Given the description of an element on the screen output the (x, y) to click on. 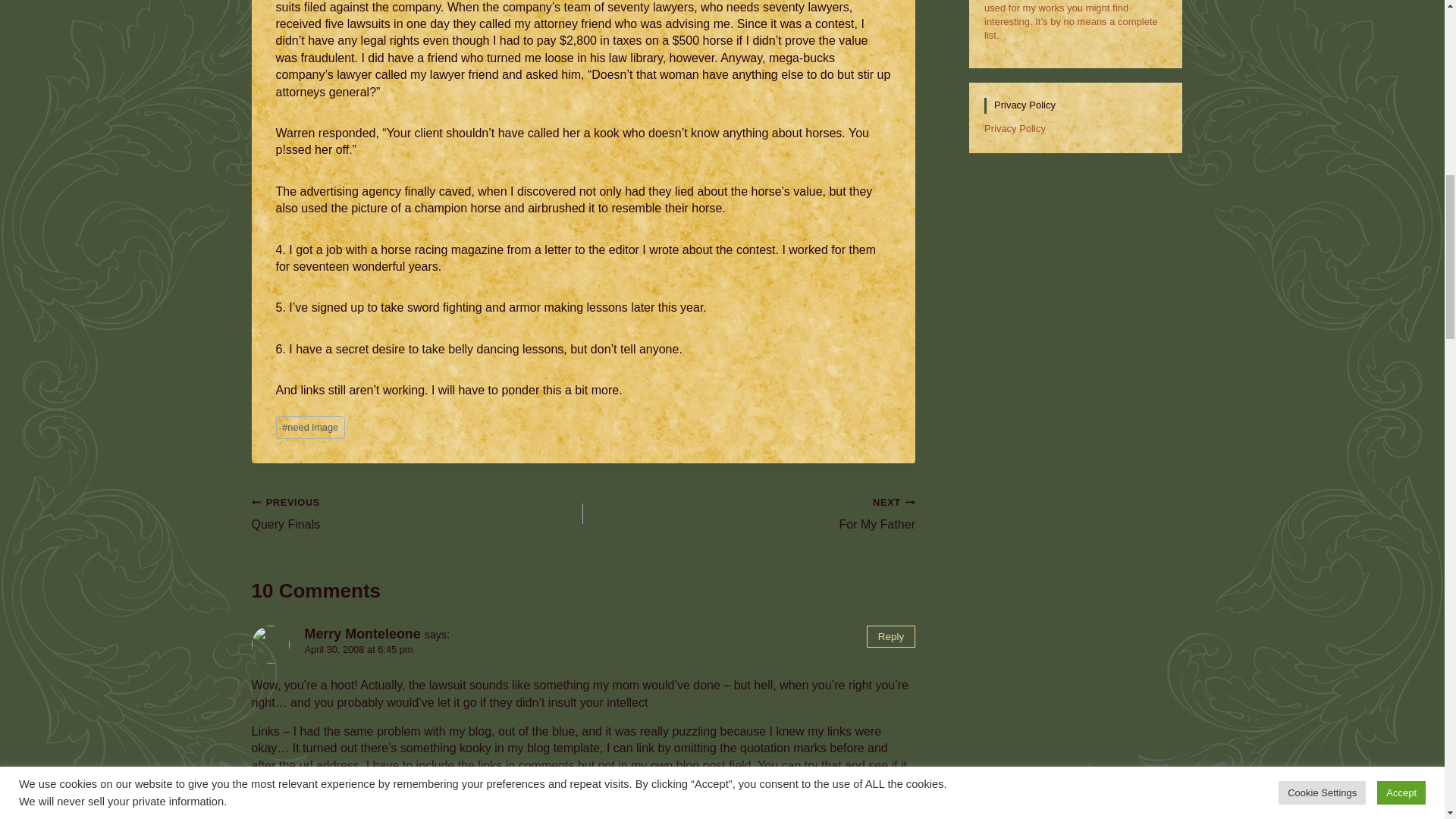
Reply (890, 636)
April 30, 2008 at 6:45 pm (358, 649)
need image (749, 513)
Merry Monteleone (310, 427)
